Given the description of an element on the screen output the (x, y) to click on. 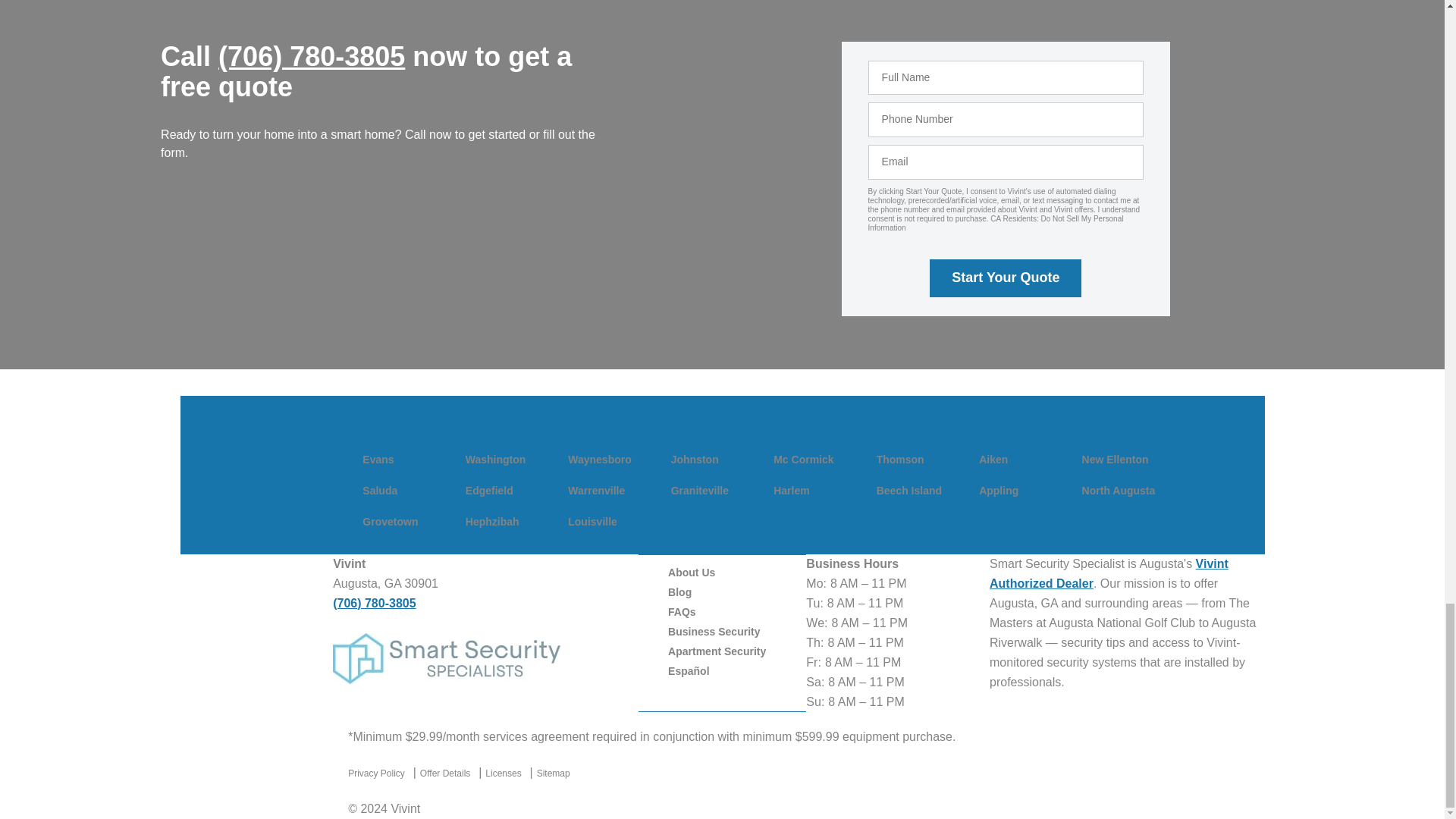
Start Your Quote (1005, 278)
Start Your Quote (1005, 278)
Evans (377, 459)
